Given the description of an element on the screen output the (x, y) to click on. 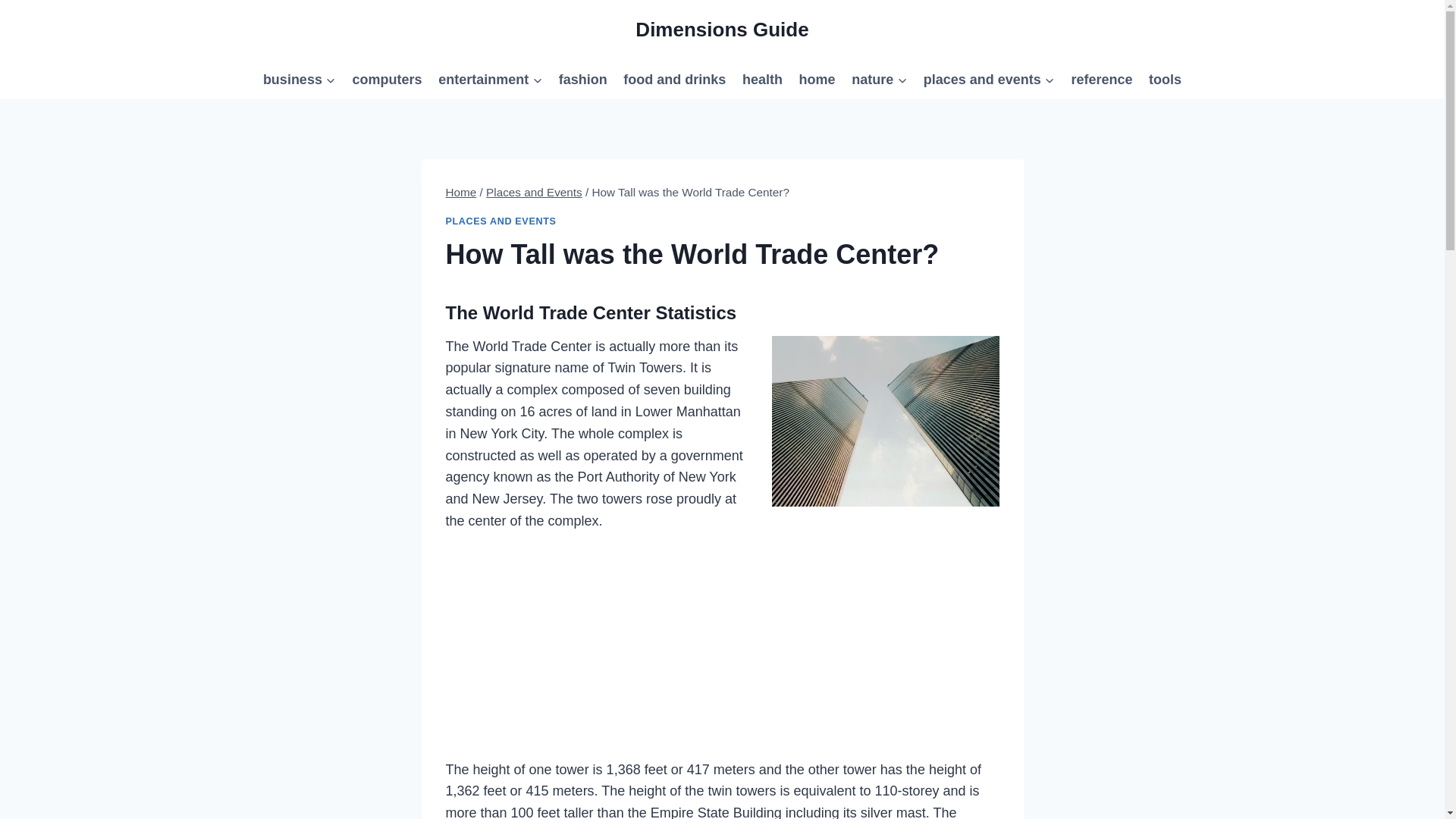
business (298, 79)
Advertisement (721, 651)
fashion (582, 79)
health (761, 79)
WorldTradeCenterTowersFromBelow (884, 420)
Places and Events (534, 192)
places and events (988, 79)
food and drinks (675, 79)
Home (461, 192)
PLACES AND EVENTS (500, 221)
